Given the description of an element on the screen output the (x, y) to click on. 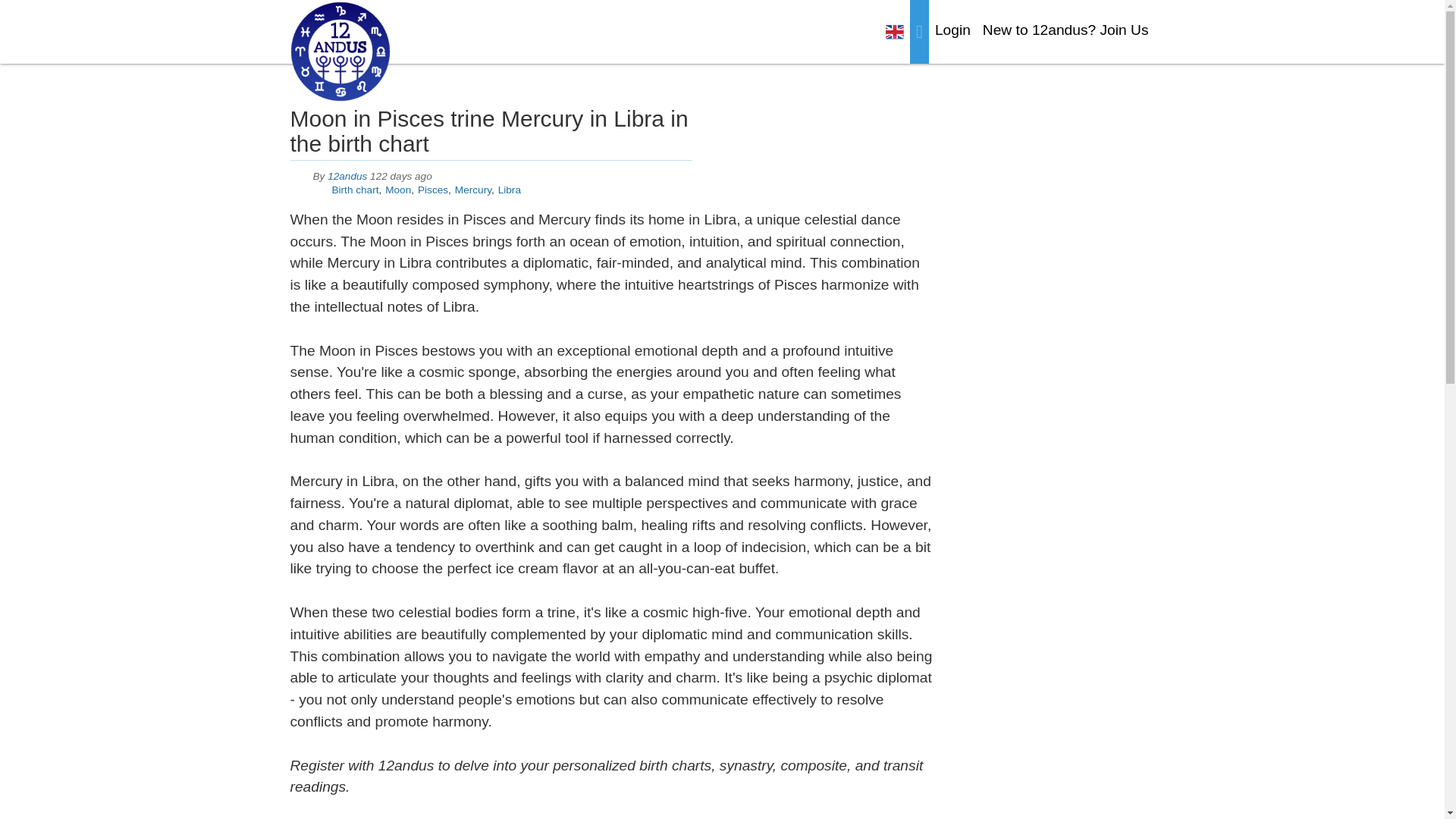
English (894, 31)
New to 12andus? Join Us (1065, 30)
